Given the description of an element on the screen output the (x, y) to click on. 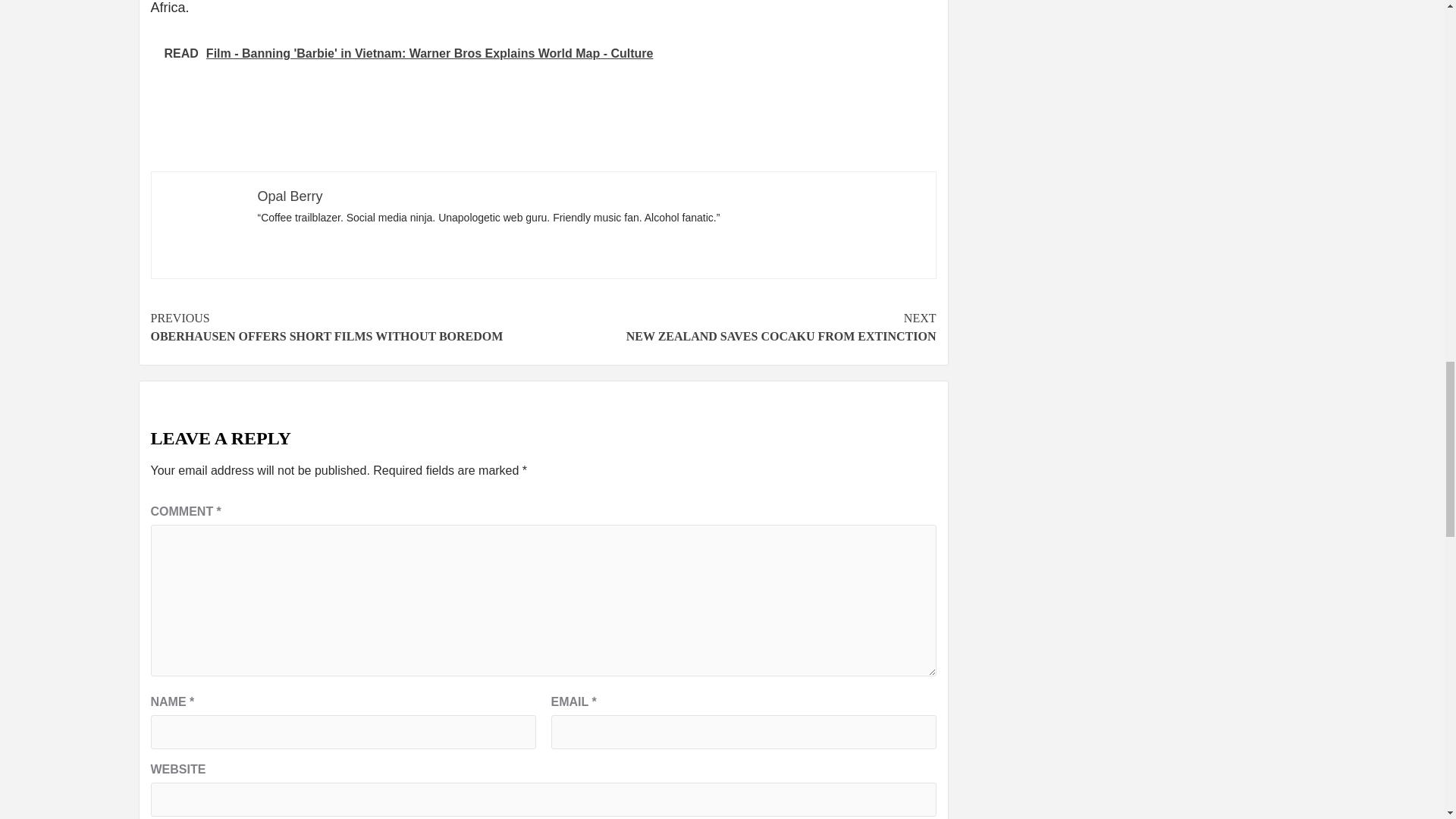
Opal Berry (739, 327)
